Given the description of an element on the screen output the (x, y) to click on. 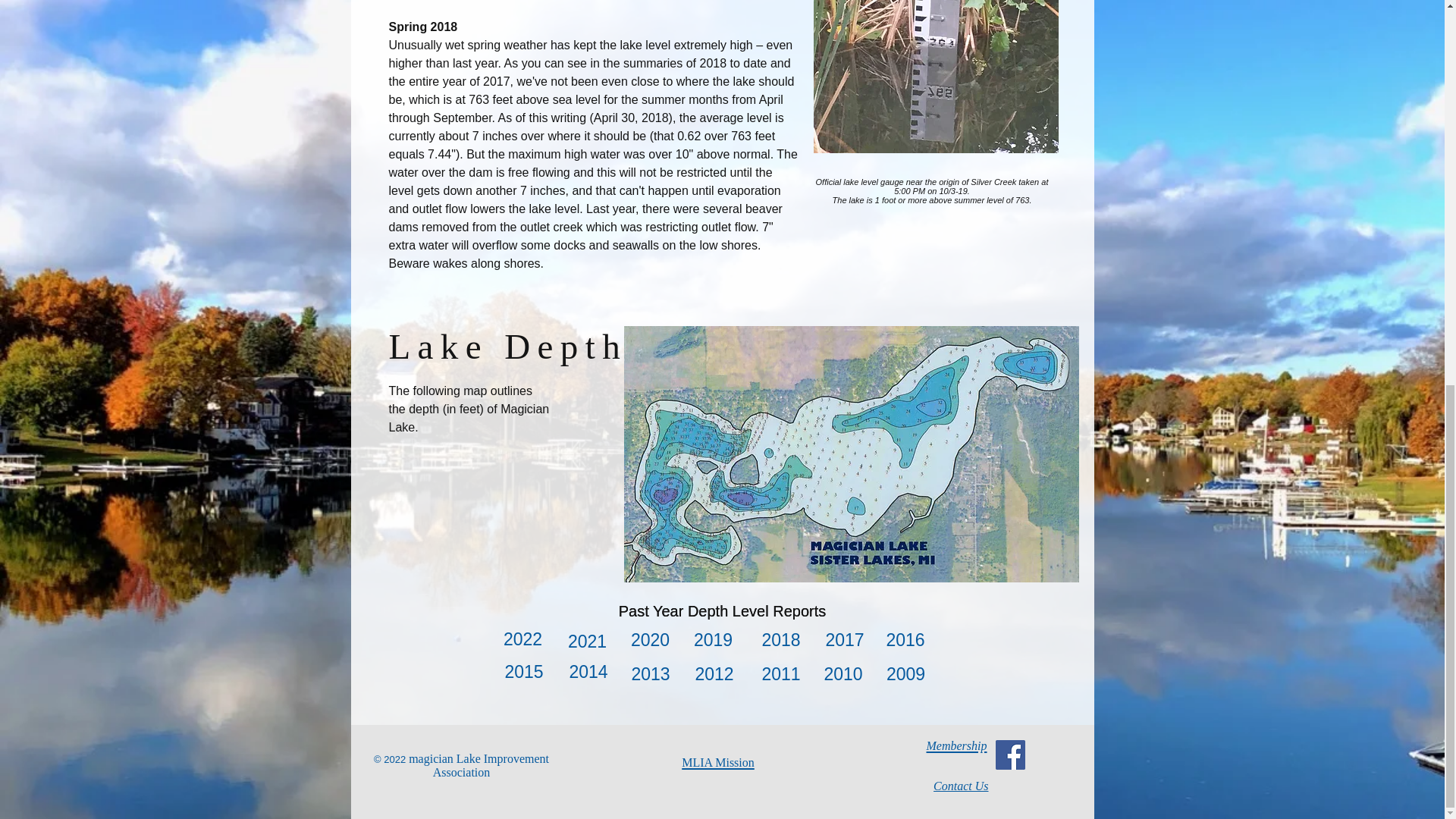
2022 (522, 639)
2015 (524, 671)
2017 (844, 639)
2013 (649, 674)
2010 (842, 674)
2020 (649, 639)
2014 (588, 671)
2019 (713, 639)
2011 (780, 674)
2021 (587, 641)
